Given the description of an element on the screen output the (x, y) to click on. 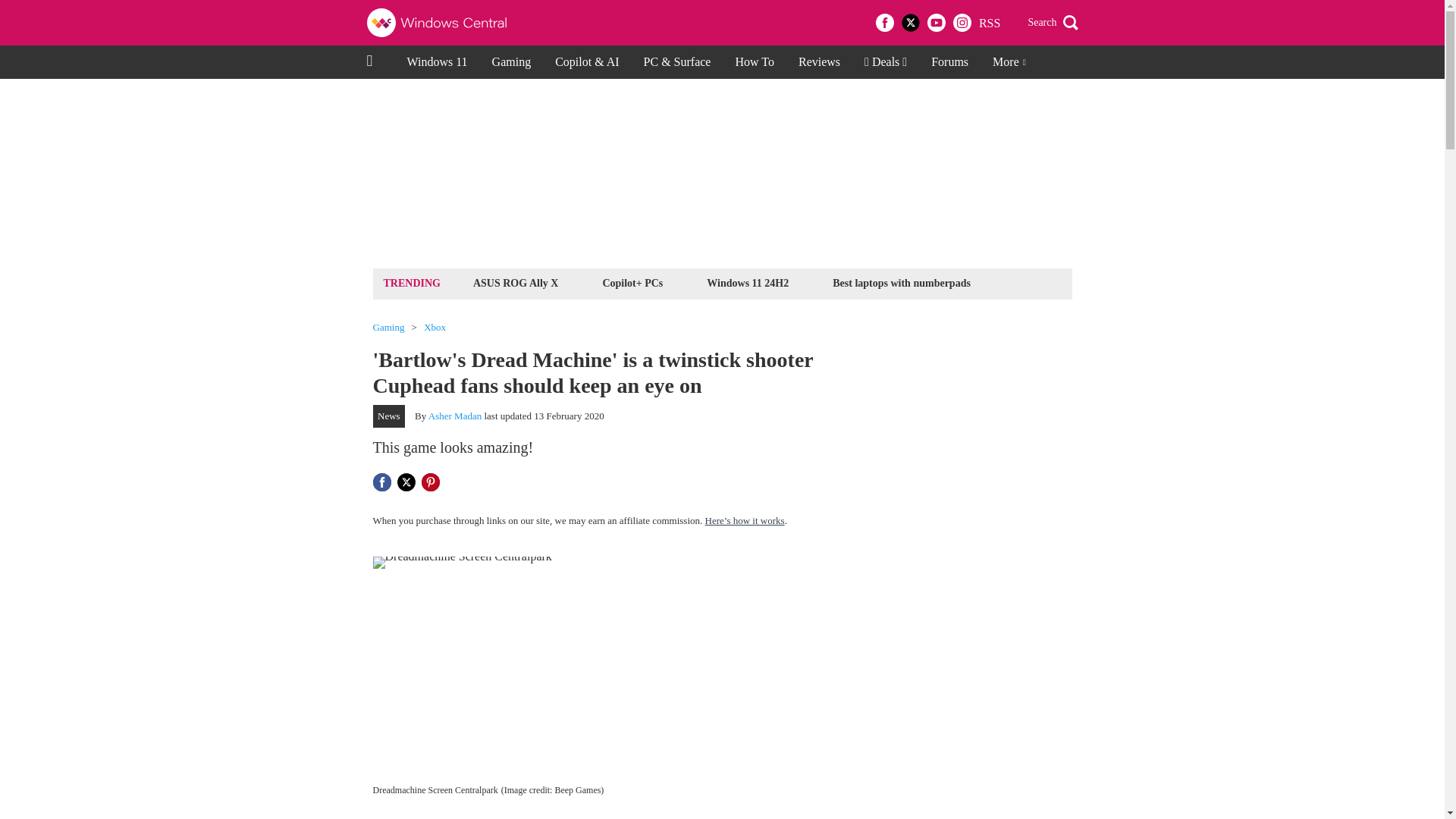
How To (754, 61)
Asher Madan (454, 415)
Windows 11 (436, 61)
RSS (989, 22)
News (389, 415)
Gaming (388, 327)
Reviews (818, 61)
ASUS ROG Ally X (515, 282)
Gaming (511, 61)
Best laptops with numberpads (901, 282)
